Given the description of an element on the screen output the (x, y) to click on. 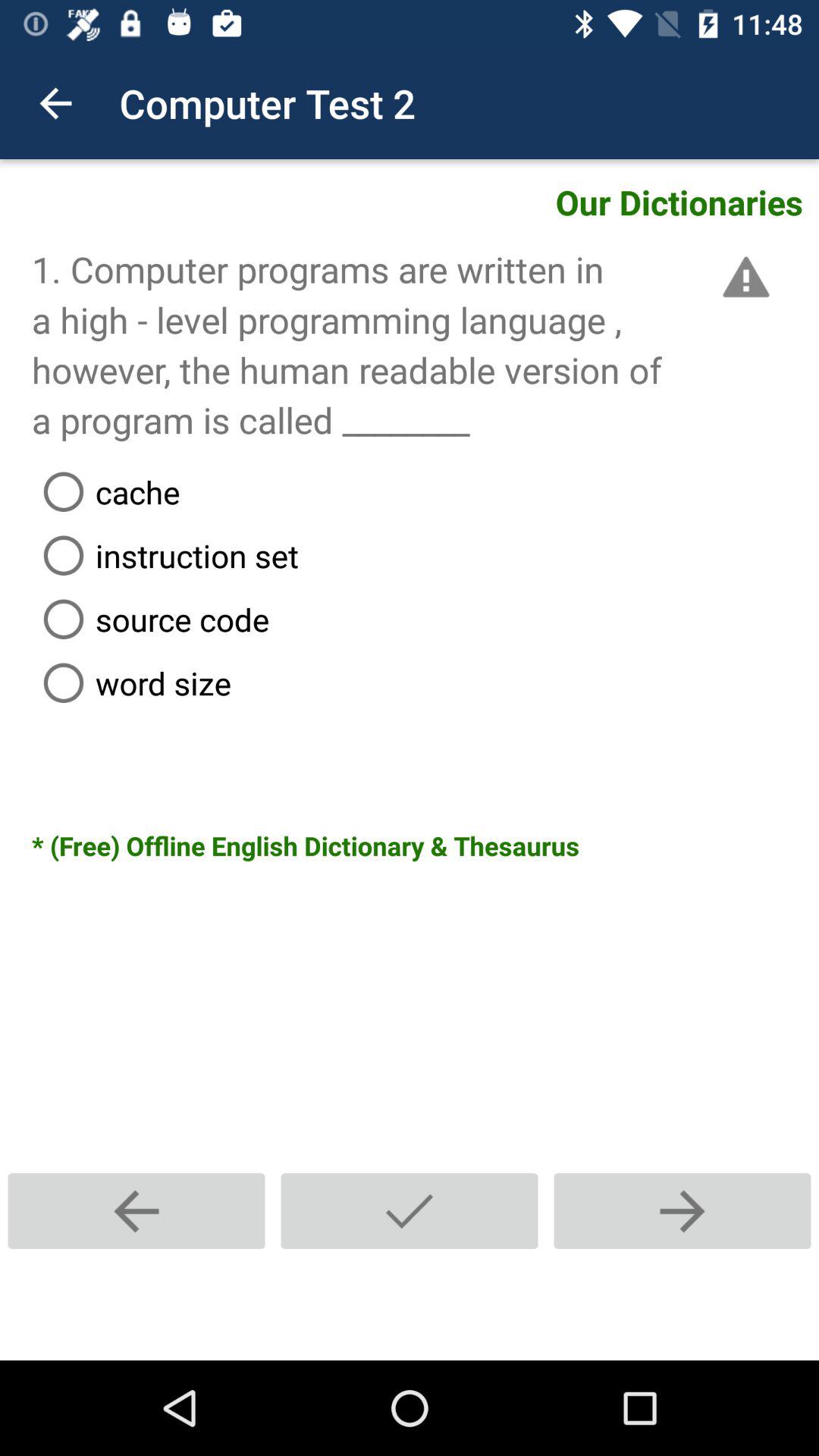
open cache (425, 491)
